Given the description of an element on the screen output the (x, y) to click on. 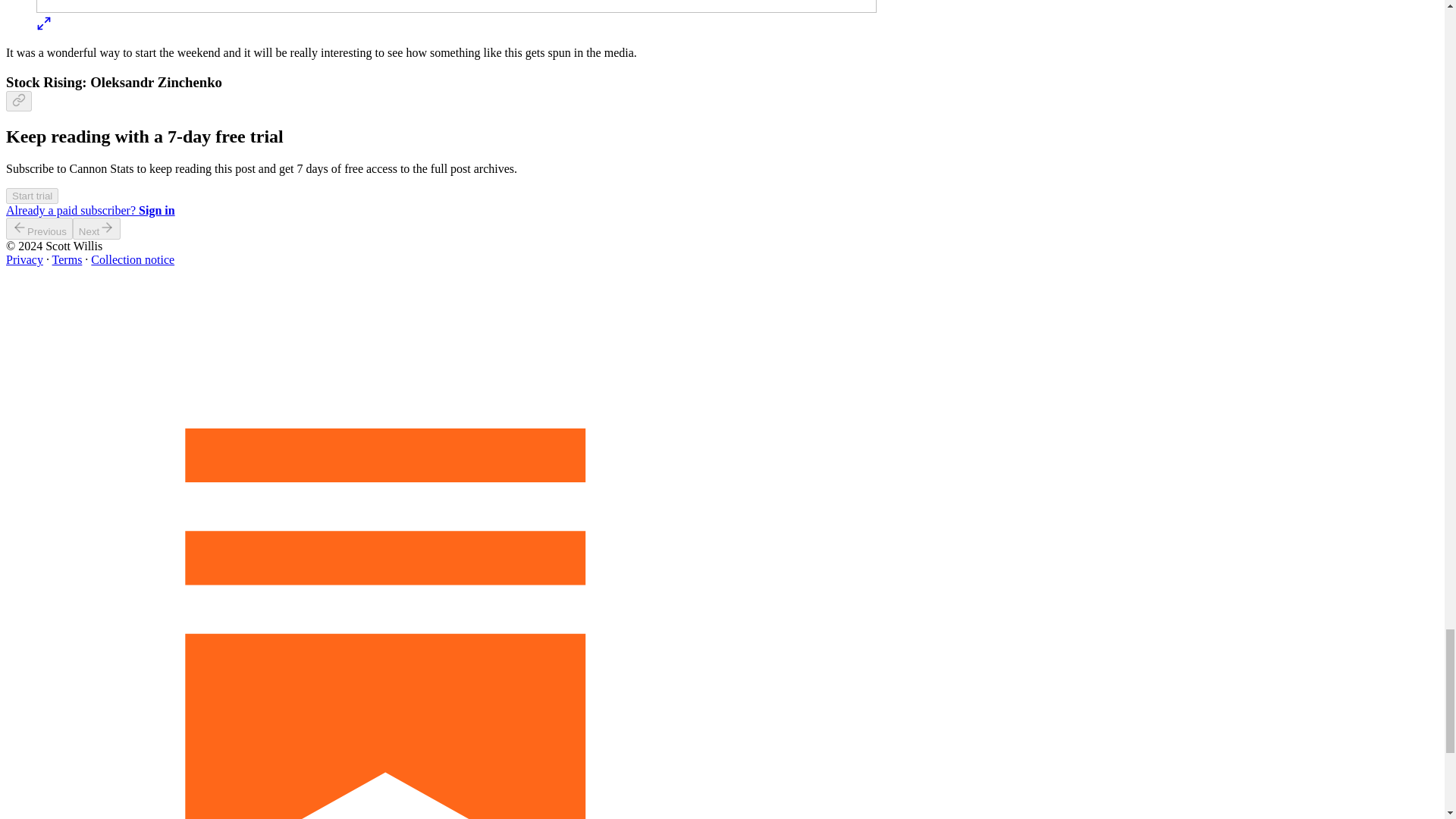
Next (96, 228)
Already a paid subscriber? Sign in (89, 210)
Privacy (24, 259)
Previous (38, 228)
Start trial (31, 195)
Collection notice (132, 259)
Start trial (31, 195)
Terms (67, 259)
